Given the description of an element on the screen output the (x, y) to click on. 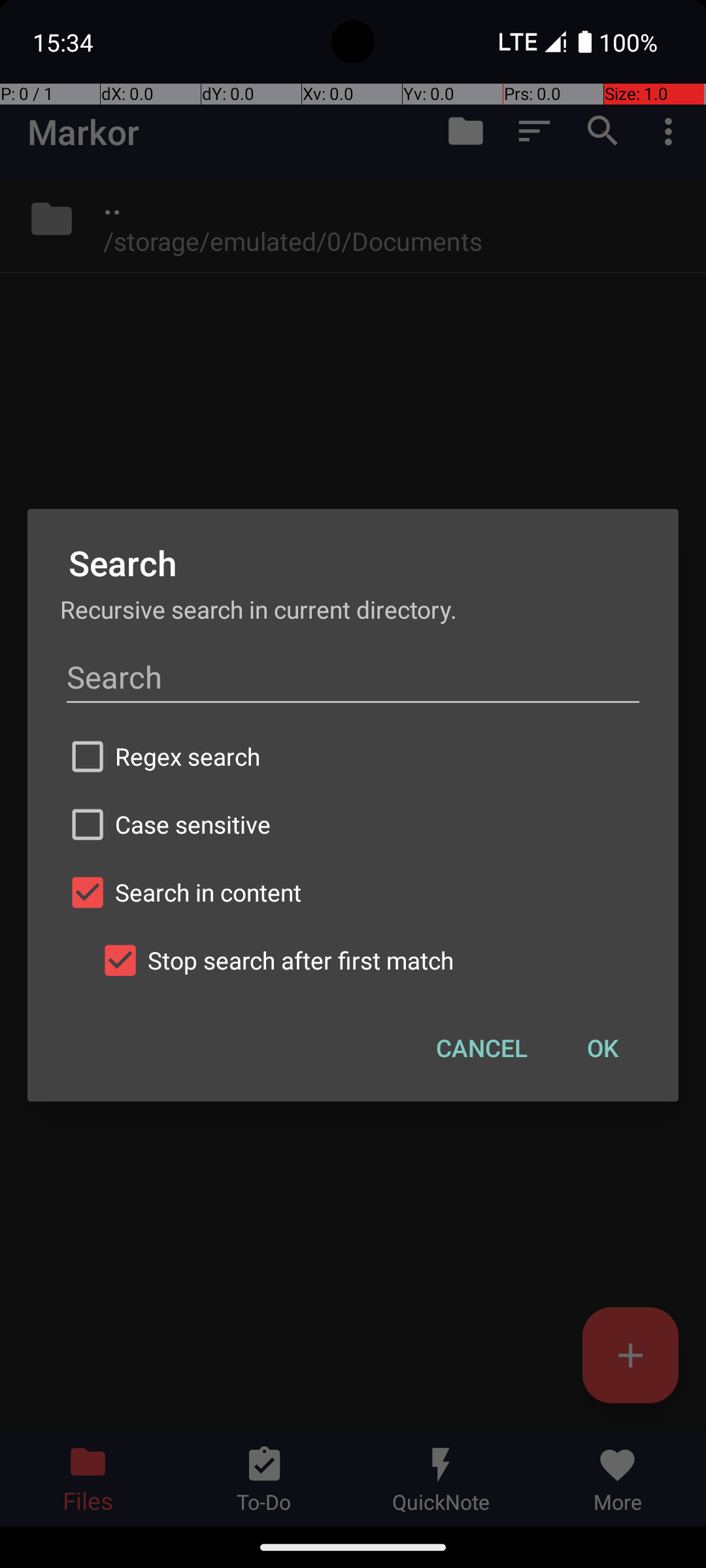
Stop search after first match Element type: android.widget.CheckBox (368, 959)
